Given the description of an element on the screen output the (x, y) to click on. 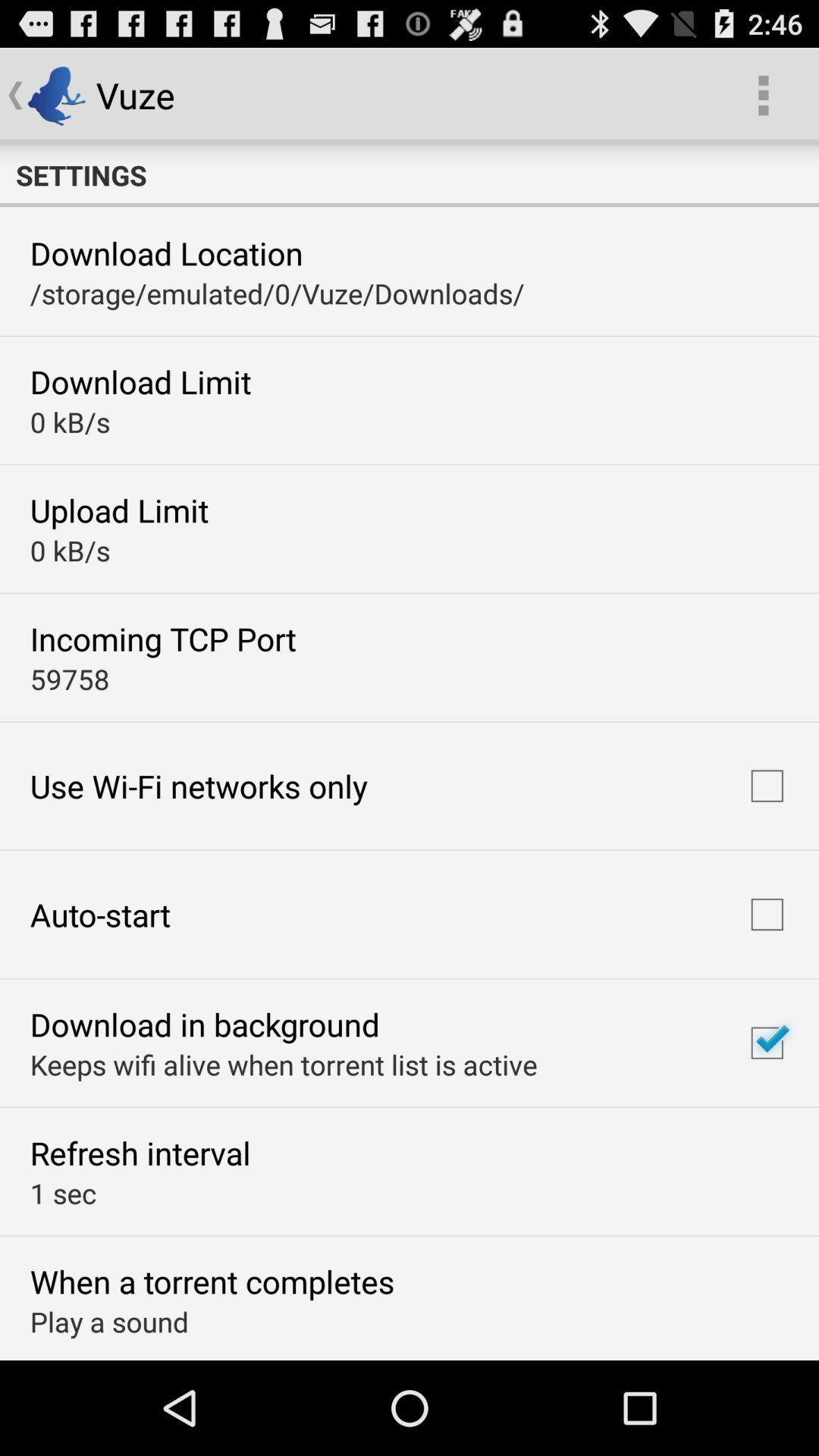
launch the app below the settings (166, 252)
